Given the description of an element on the screen output the (x, y) to click on. 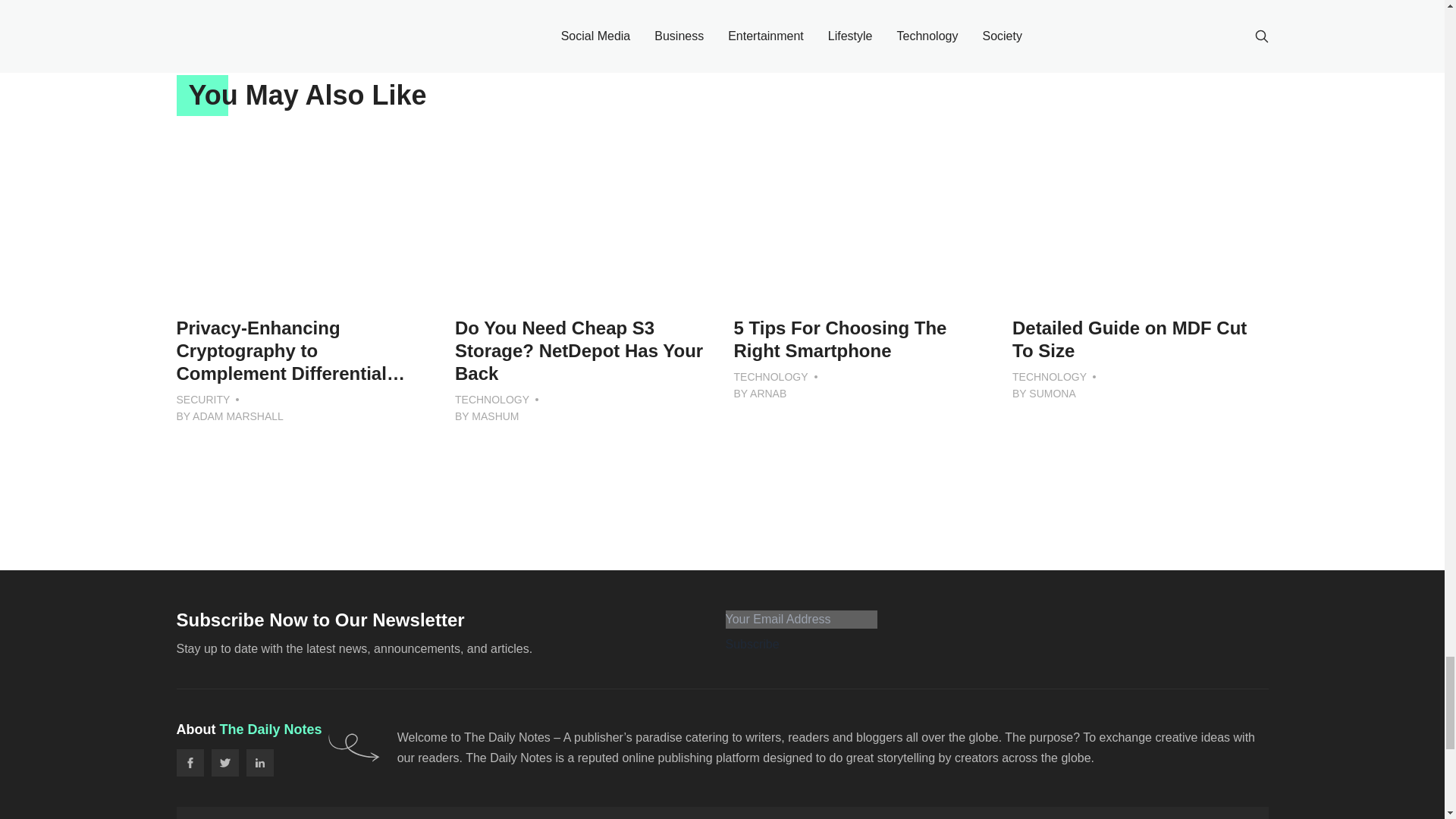
Security (203, 399)
Technology (491, 399)
Technology (1048, 376)
Technology (770, 376)
Subscribe (751, 644)
